Given the description of an element on the screen output the (x, y) to click on. 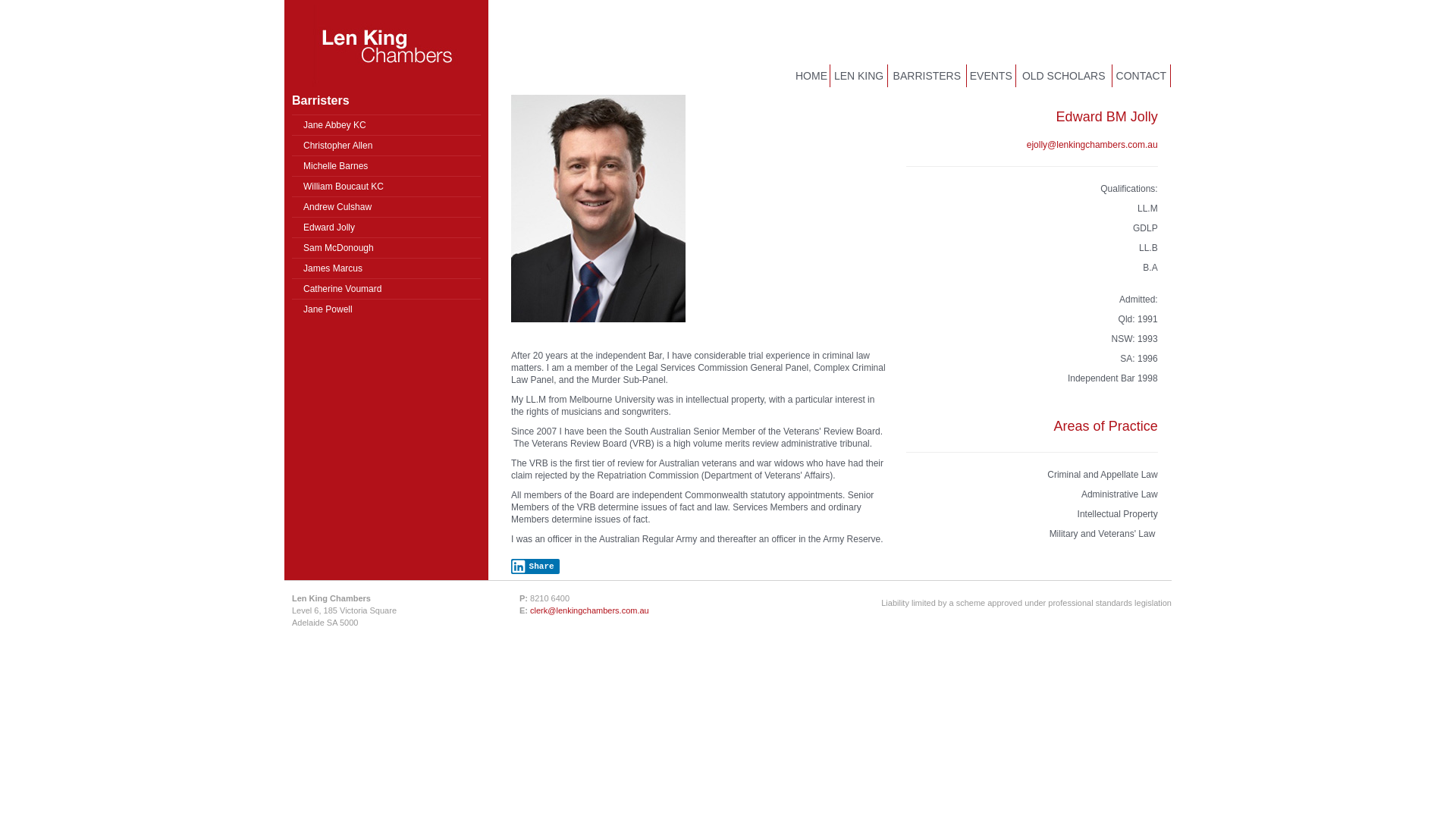
William Boucaut KC Element type: text (385, 185)
LEN KING Element type: text (859, 75)
Edward Jolly Element type: text (385, 226)
Michelle Barnes Element type: text (385, 165)
Sam McDonough Element type: text (385, 247)
Christopher Allen Element type: text (385, 144)
EVENTS Element type: text (991, 75)
Catherine Voumard Element type: text (385, 288)
HOME Element type: text (811, 75)
Jane Abbey KC Element type: text (385, 124)
Andrew Culshaw Element type: text (385, 206)
Share Element type: text (535, 566)
BARRISTERS Element type: text (927, 75)
ejolly@lenkingchambers.com.au Element type: text (1091, 144)
James Marcus Element type: text (385, 267)
clerk@lenkingchambers.com.au Element type: text (589, 610)
OLD SCHOLARS Element type: text (1064, 75)
CONTACT Element type: text (1141, 75)
Jane Powell Element type: text (385, 308)
